Given the description of an element on the screen output the (x, y) to click on. 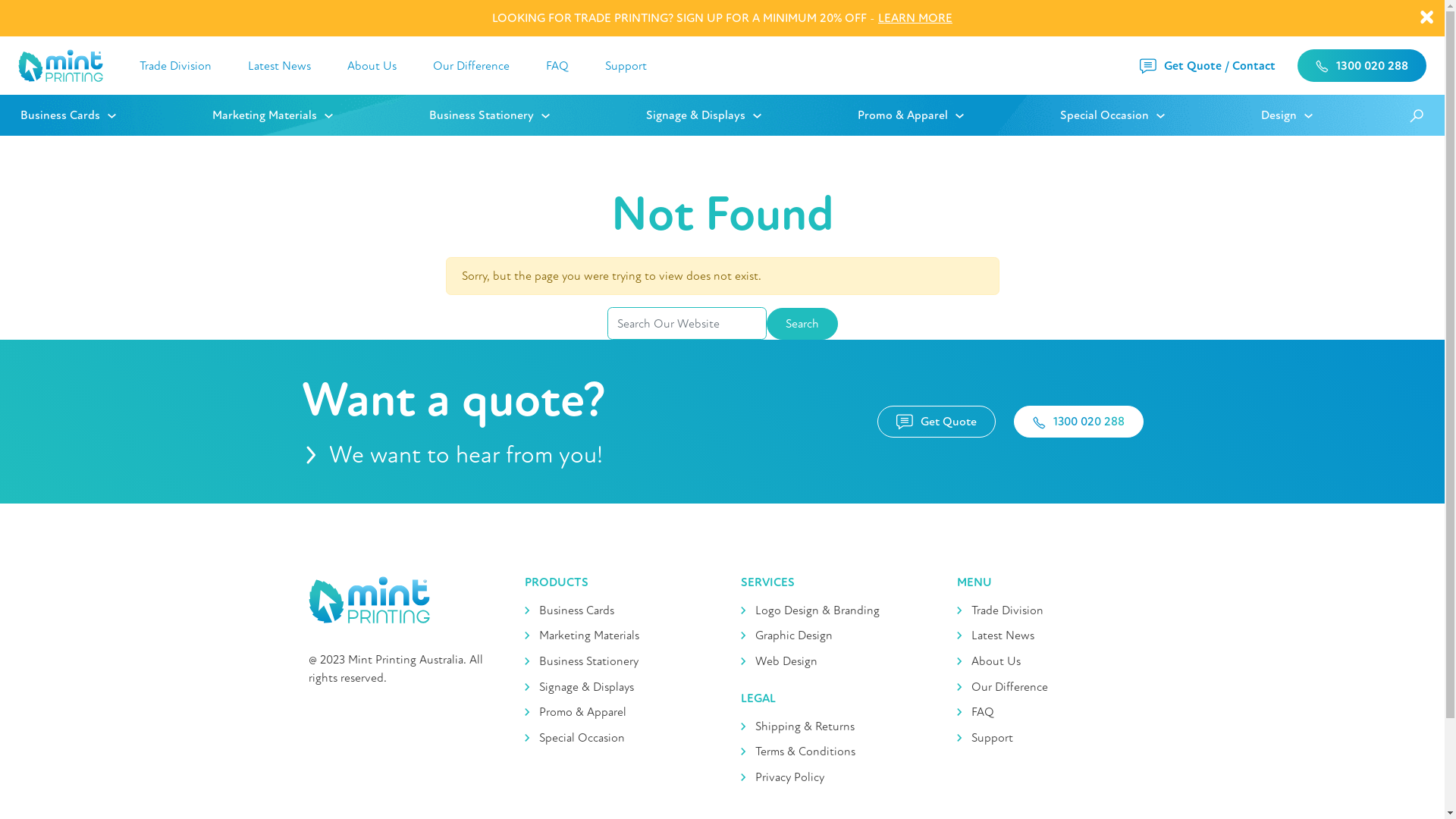
Privacy Policy Element type: text (829, 777)
Business Cards Element type: text (614, 610)
Get Quote / Contact Element type: text (1208, 65)
Design Element type: text (1334, 115)
Business Cards Element type: text (116, 115)
LEARN MORE Element type: text (915, 17)
Special Occasion Element type: text (1160, 115)
Signage & Displays Element type: text (614, 686)
About Us Element type: text (1046, 661)
Logo Design & Branding Element type: text (829, 610)
Shipping & Returns Element type: text (829, 726)
Our Difference Element type: text (1046, 686)
Special Occasion Element type: text (614, 737)
Support Element type: text (1046, 737)
Search Element type: text (801, 323)
1300 020 288 Element type: text (1361, 65)
Trade Division Element type: text (175, 65)
About Us Element type: text (371, 65)
Support Element type: text (625, 65)
FAQ Element type: text (1046, 711)
Marketing Materials Element type: text (614, 636)
Get Quote Element type: text (935, 421)
Marketing Materials Element type: text (320, 115)
Latest News Element type: text (1046, 636)
Terms & Conditions Element type: text (829, 751)
Business Stationery Element type: text (614, 661)
FAQ Element type: text (556, 65)
Business Stationery Element type: text (537, 115)
Our Difference Element type: text (470, 65)
Signage & Displays Element type: text (751, 115)
Promo & Apparel Element type: text (614, 711)
Trade Division Element type: text (1046, 610)
Promo & Apparel Element type: text (958, 115)
Graphic Design Element type: text (829, 636)
Web Design Element type: text (829, 661)
1300 020 288 Element type: text (1077, 421)
Latest News Element type: text (279, 65)
